Given the description of an element on the screen output the (x, y) to click on. 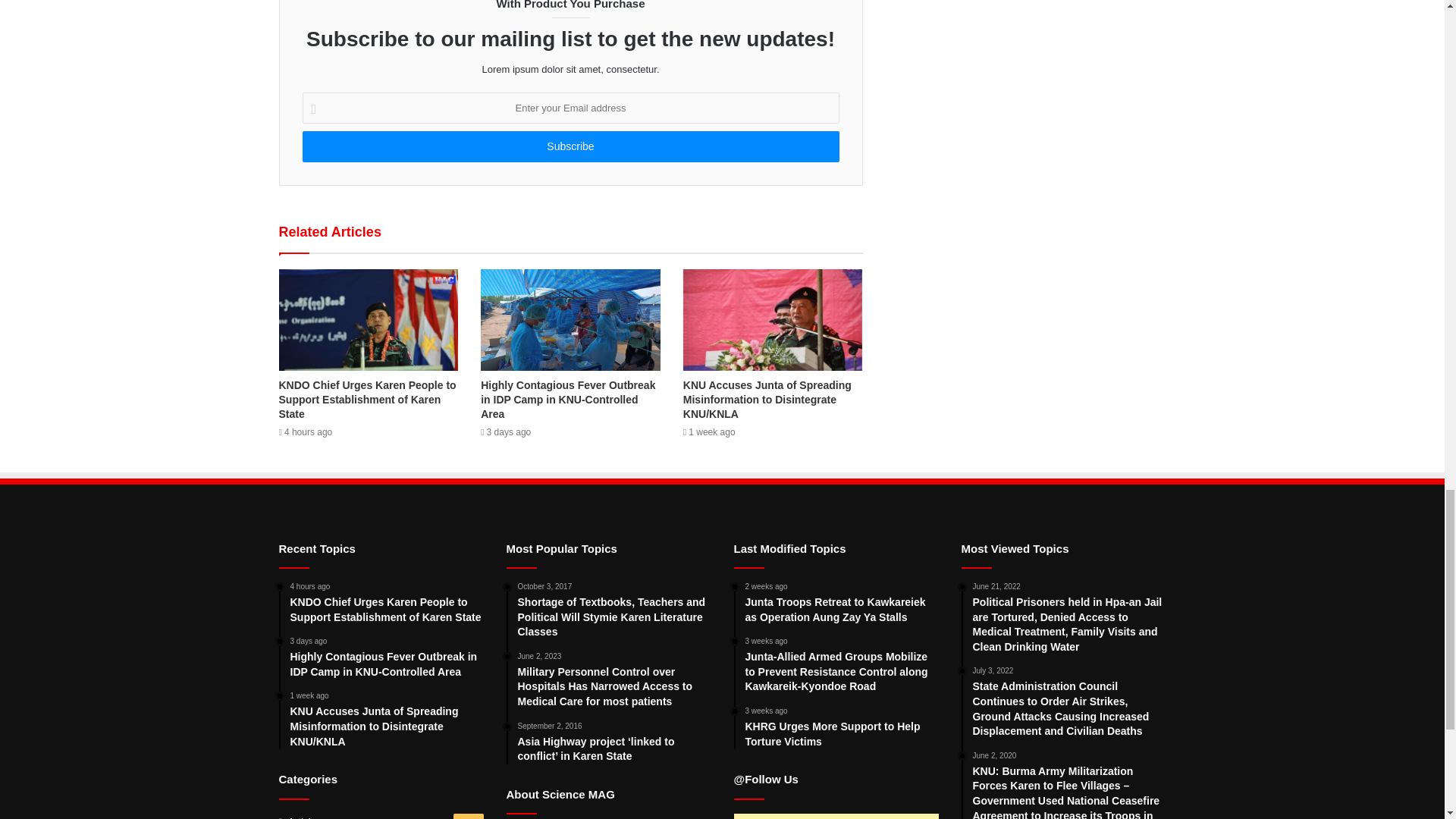
Subscribe (569, 146)
